Given the description of an element on the screen output the (x, y) to click on. 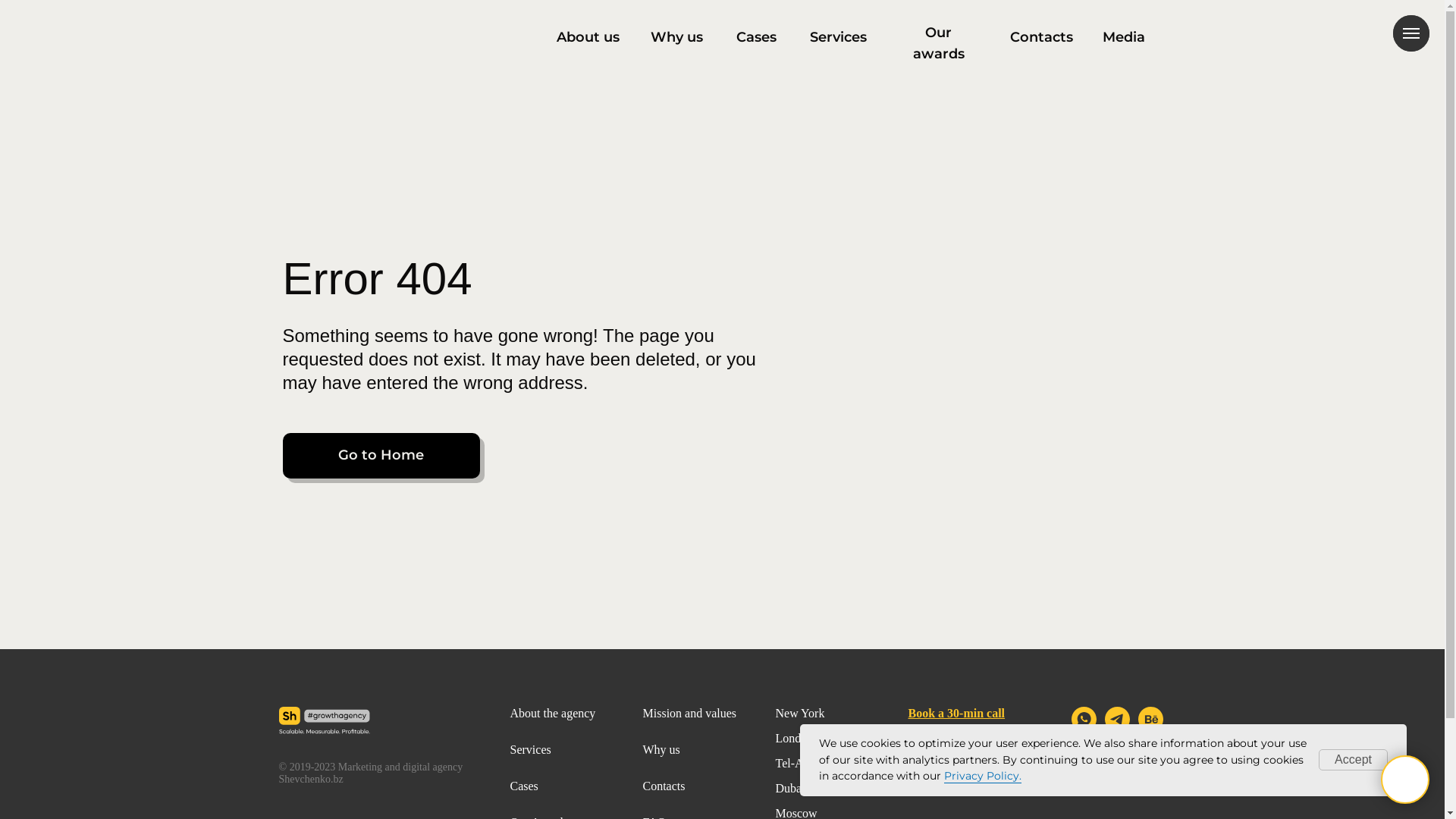
Mission and values Element type: text (690, 713)
Contacts Element type: text (1041, 37)
Cases Element type: text (523, 786)
Media Element type: text (1123, 37)
Our awards Element type: text (938, 43)
Cases Element type: text (756, 37)
Why us Element type: text (661, 749)
Services Element type: text (529, 749)
About the agency Element type: text (552, 713)
Contacts Element type: text (664, 786)
Privacy Policy. Element type: text (982, 775)
Book a 30-min call Element type: text (956, 713)
Cookie settings Element type: text (941, 787)
About us Element type: text (588, 37)
Go to Home Element type: text (380, 455)
Why us Element type: text (676, 37)
Privacy Policy Element type: text (939, 750)
Services Element type: text (837, 37)
